Given the description of an element on the screen output the (x, y) to click on. 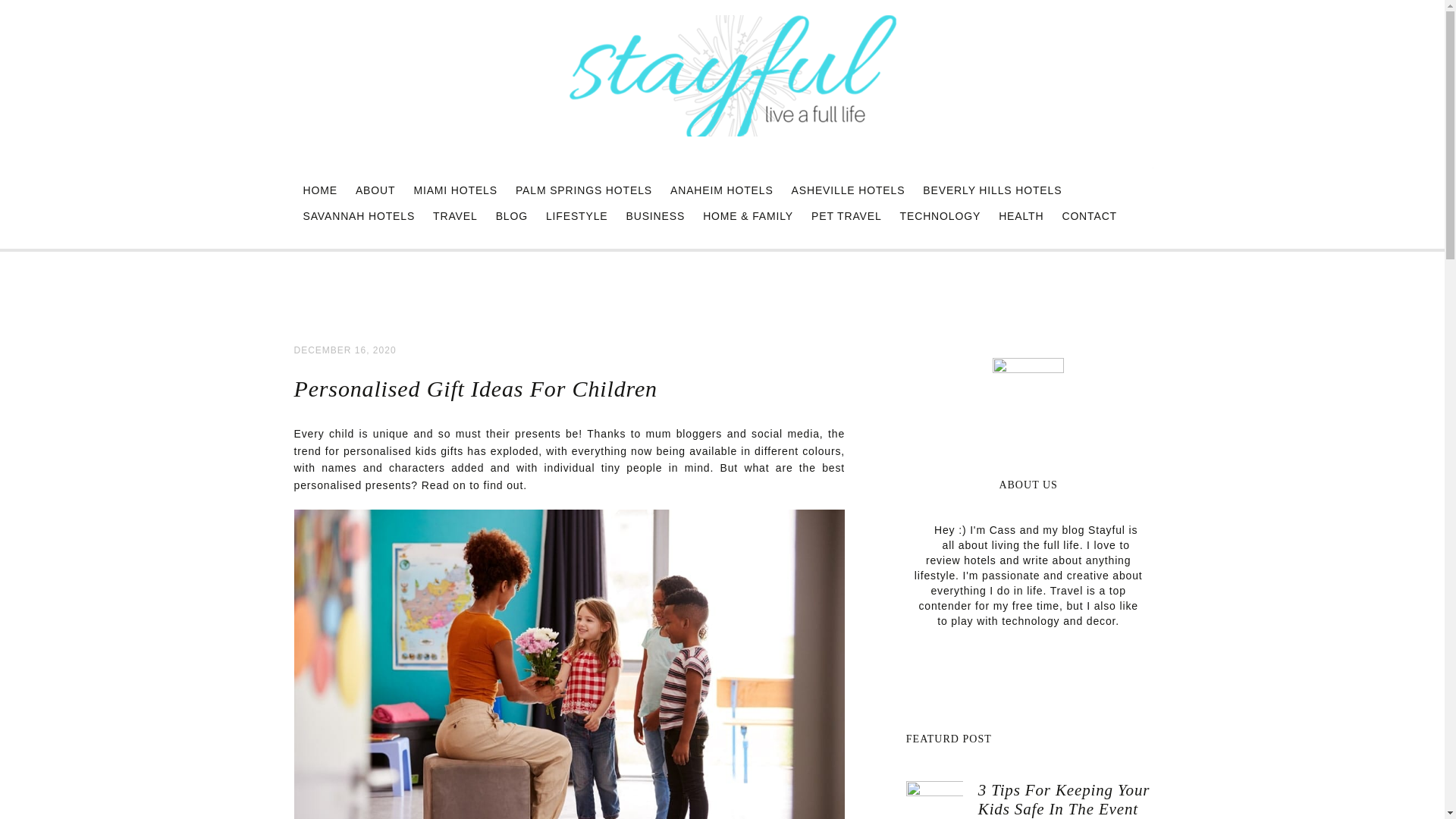
PET TRAVEL (846, 216)
LIFESTYLE (576, 216)
ABOUT (375, 190)
MIAMI HOTELS (454, 190)
BLOG (511, 216)
PALM SPRINGS HOTELS (584, 190)
BUSINESS (655, 216)
SAVANNAH HOTELS (358, 216)
TECHNOLOGY (941, 216)
ANAHEIM HOTELS (721, 190)
ASHEVILLE HOTELS (848, 190)
TRAVEL (455, 216)
HOME (319, 190)
HEALTH (1020, 216)
